Given the description of an element on the screen output the (x, y) to click on. 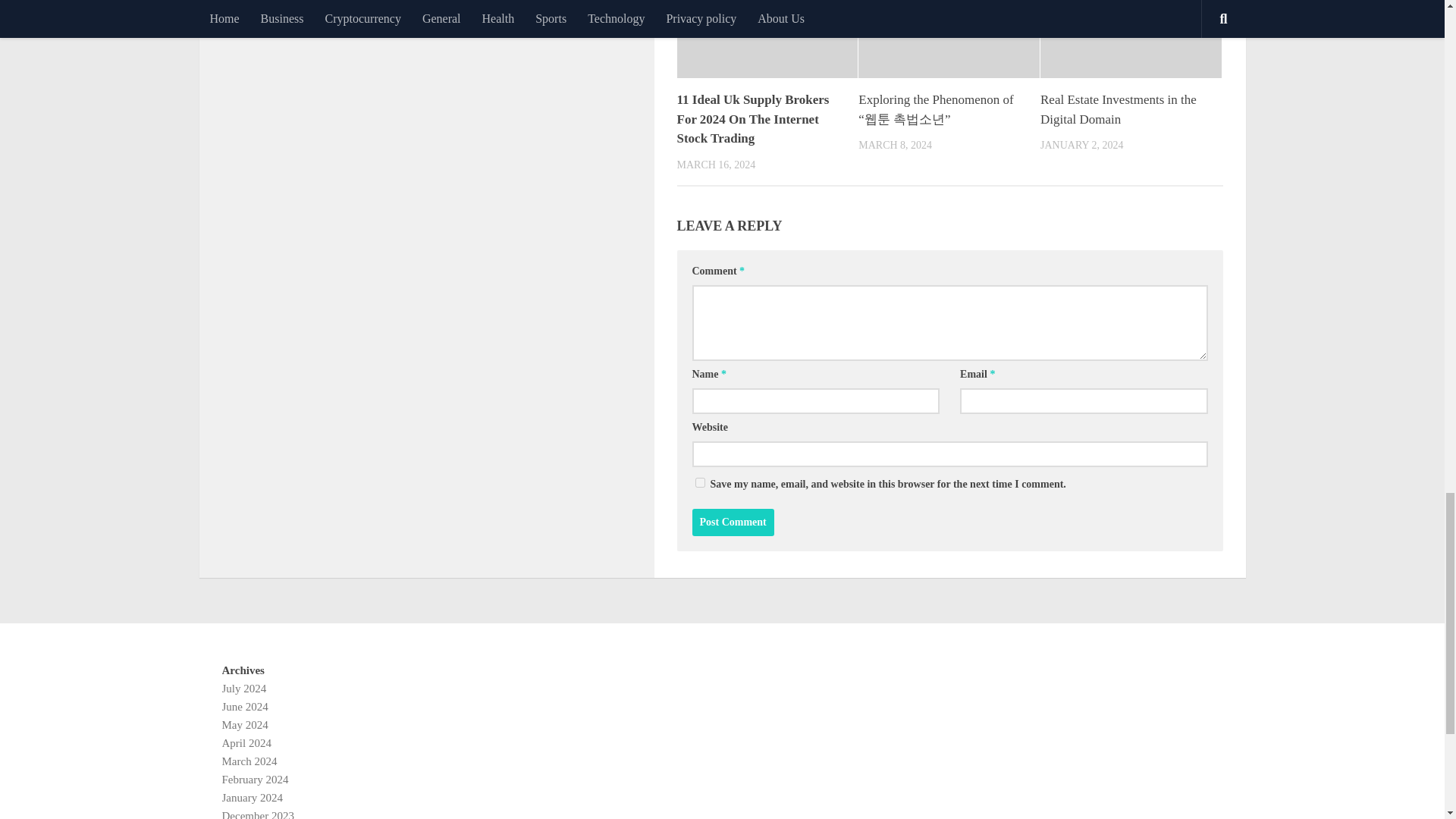
Post Comment (732, 522)
yes (699, 482)
